Given the description of an element on the screen output the (x, y) to click on. 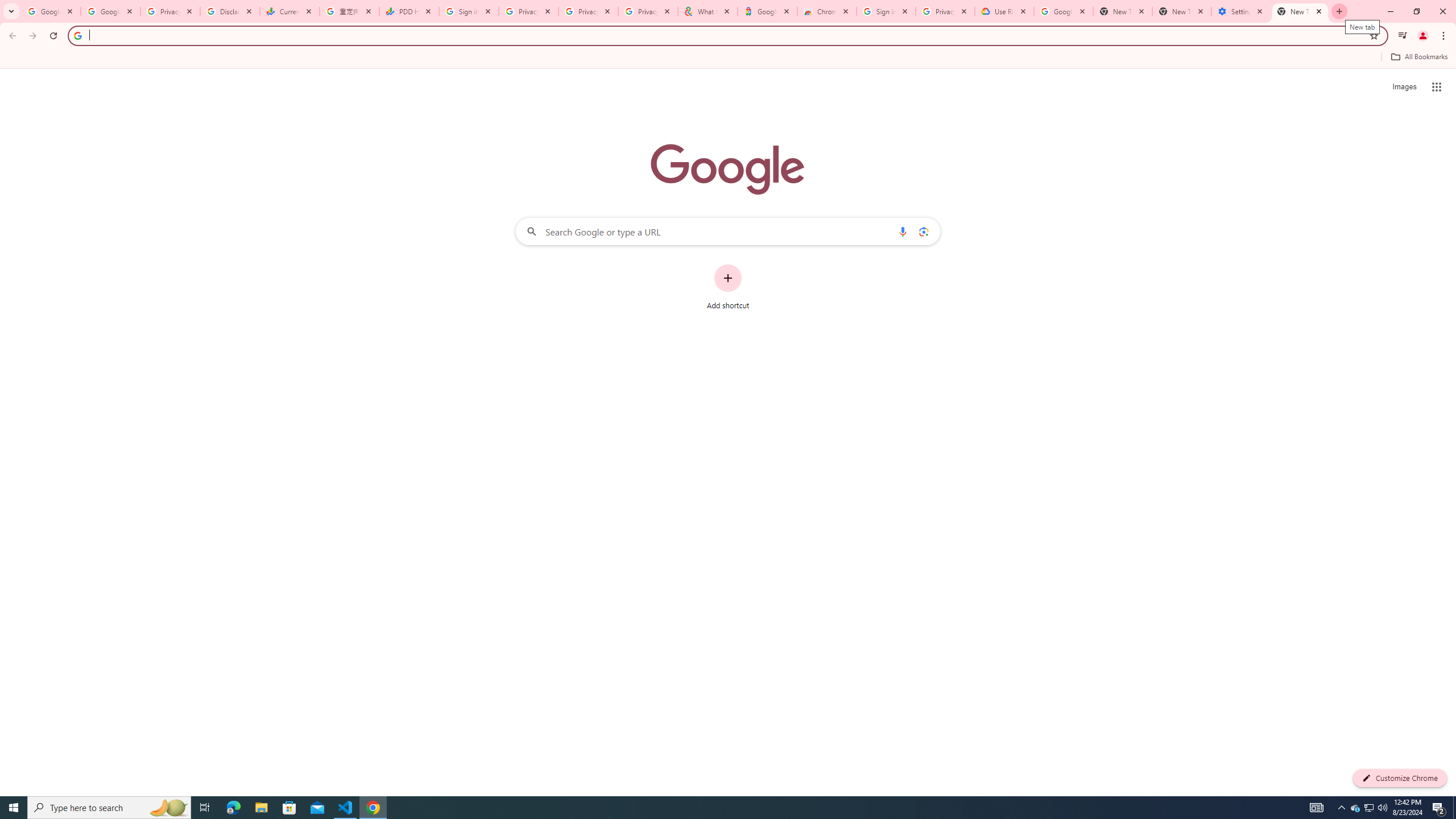
Google (767, 11)
Settings - System (1241, 11)
Privacy Checkup (588, 11)
